Given the description of an element on the screen output the (x, y) to click on. 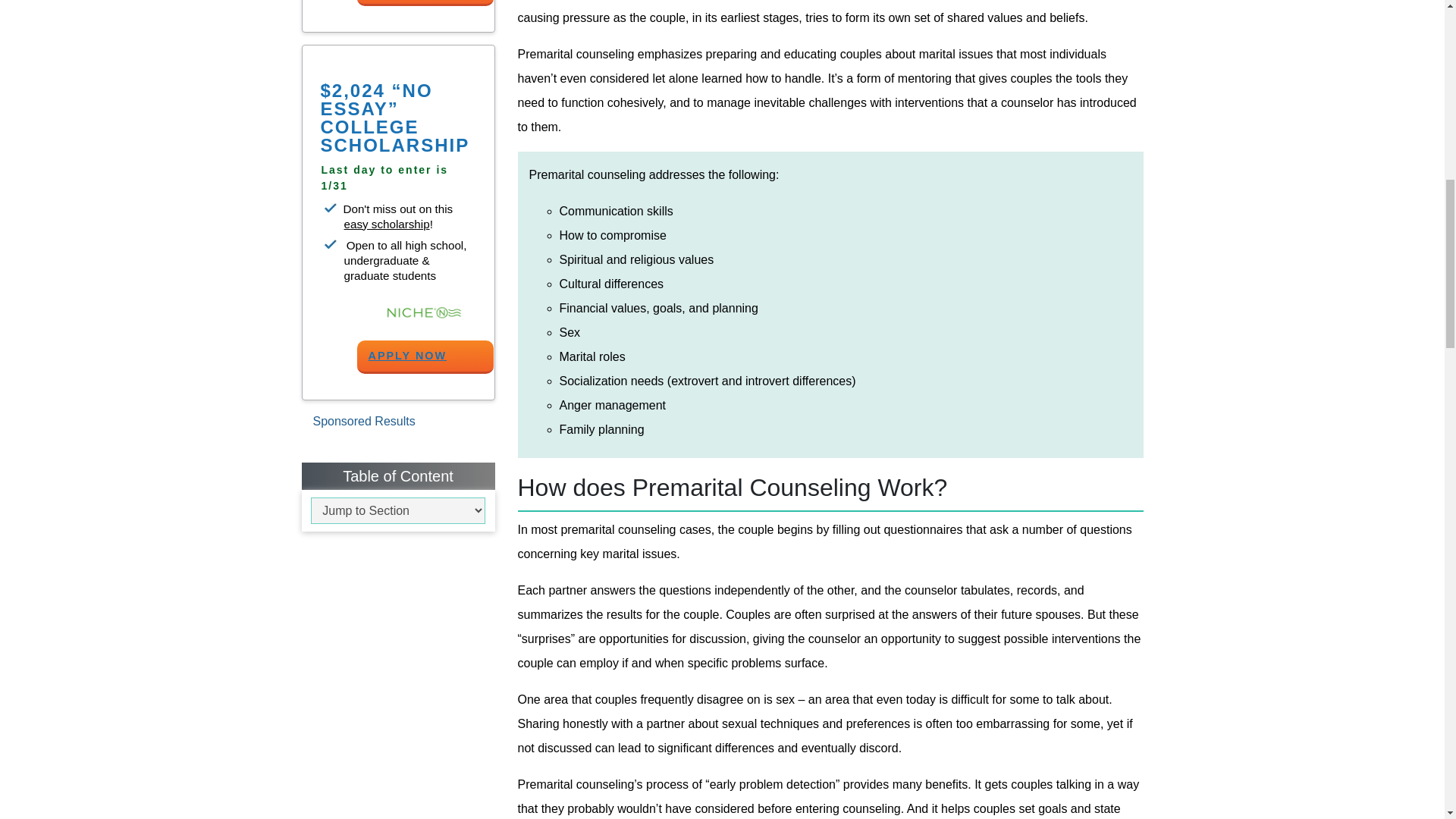
Sponsored Results (363, 420)
